Given the description of an element on the screen output the (x, y) to click on. 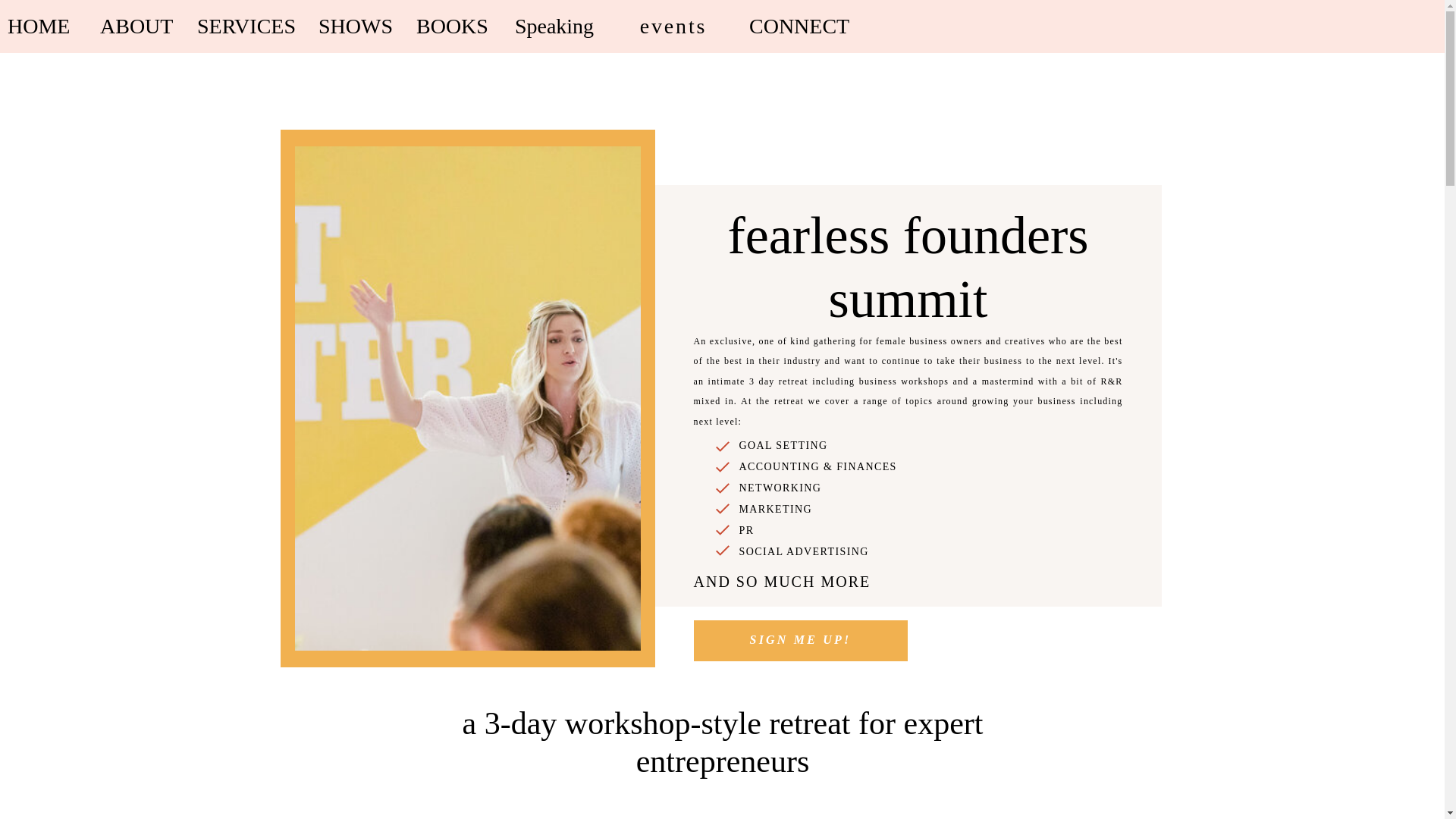
Speaking (554, 30)
BOOKS (445, 30)
events (673, 30)
SHOWS (349, 29)
HOME (35, 30)
CONNECT (790, 30)
ABOUT (130, 30)
SERVICES (239, 30)
